Given the description of an element on the screen output the (x, y) to click on. 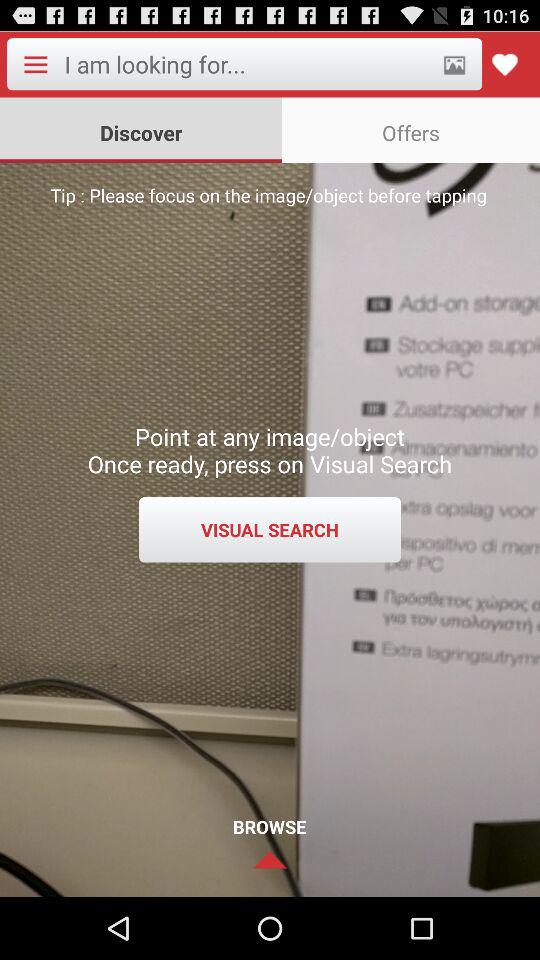
favorite (504, 64)
